Given the description of an element on the screen output the (x, y) to click on. 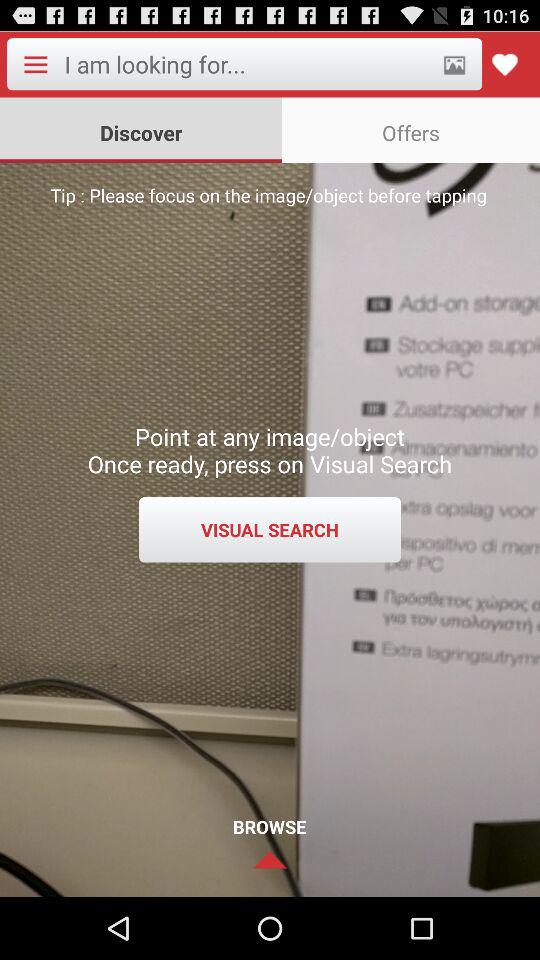
favorite (504, 64)
